Given the description of an element on the screen output the (x, y) to click on. 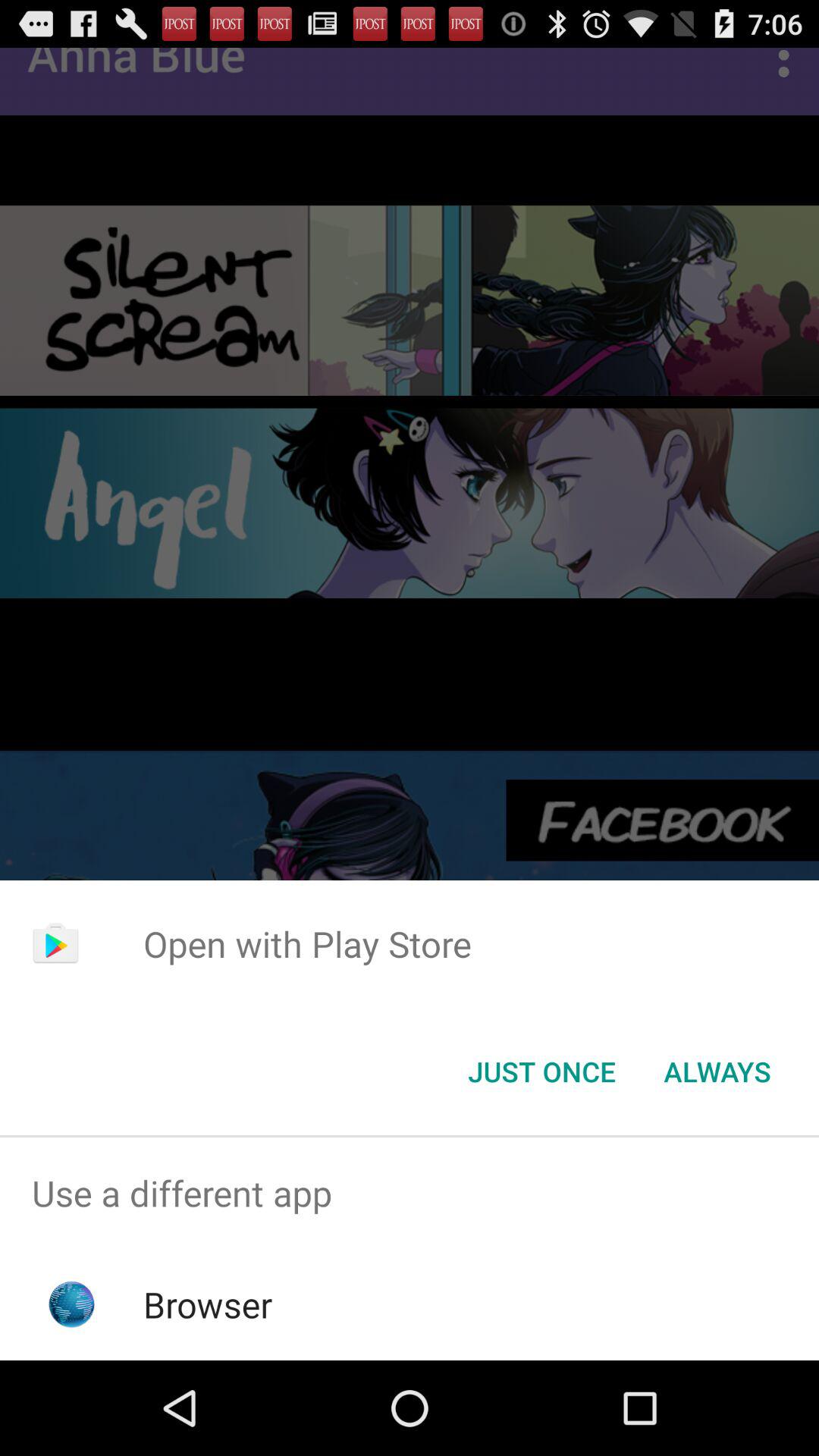
click the icon below open with play item (541, 1071)
